Given the description of an element on the screen output the (x, y) to click on. 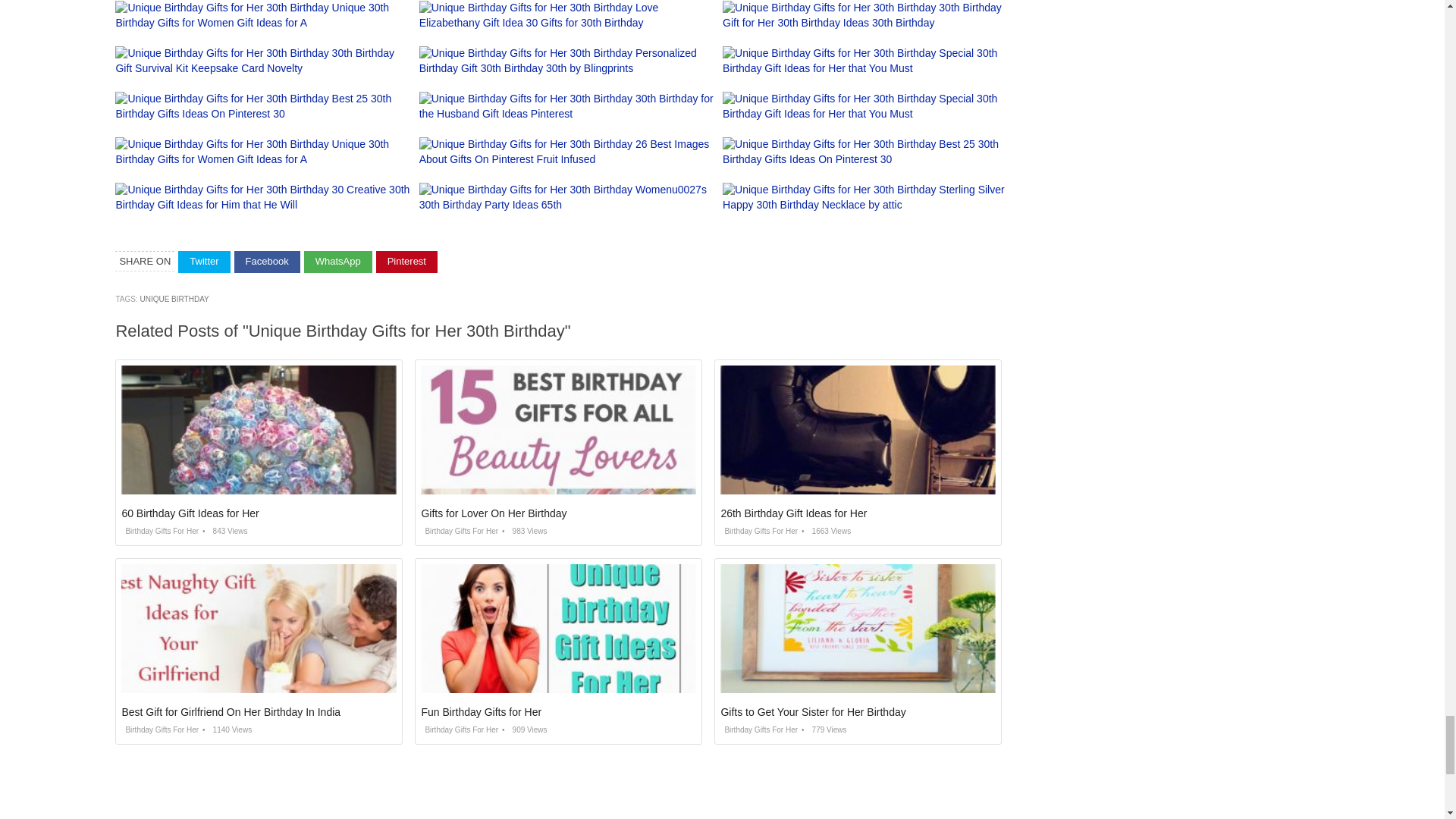
WhatsApp (338, 261)
UNIQUE BIRTHDAY (173, 298)
Twitter (203, 261)
Facebook (266, 261)
